Given the description of an element on the screen output the (x, y) to click on. 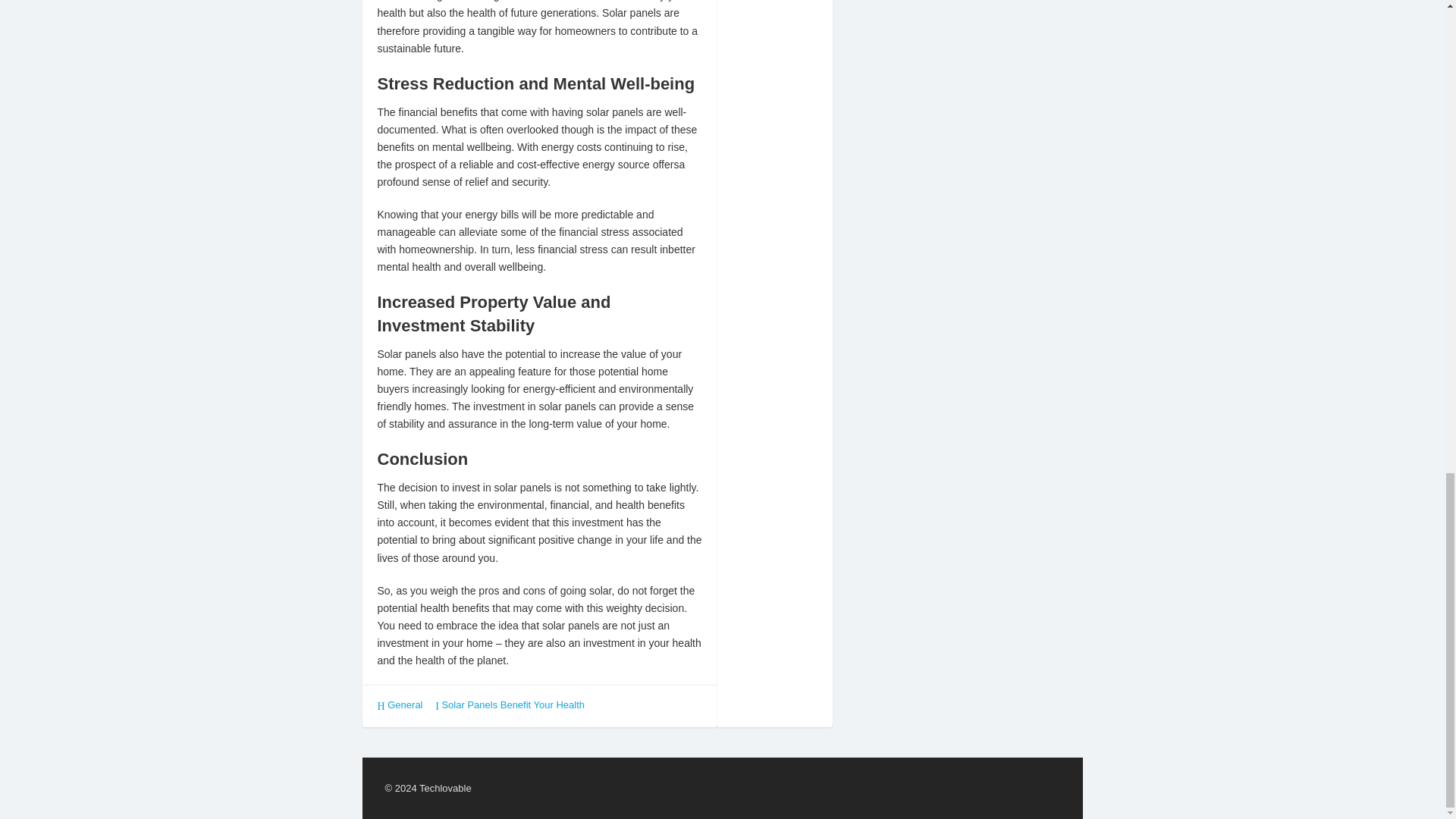
Solar Panels Benefit Your Health (513, 704)
General (404, 704)
